Given the description of an element on the screen output the (x, y) to click on. 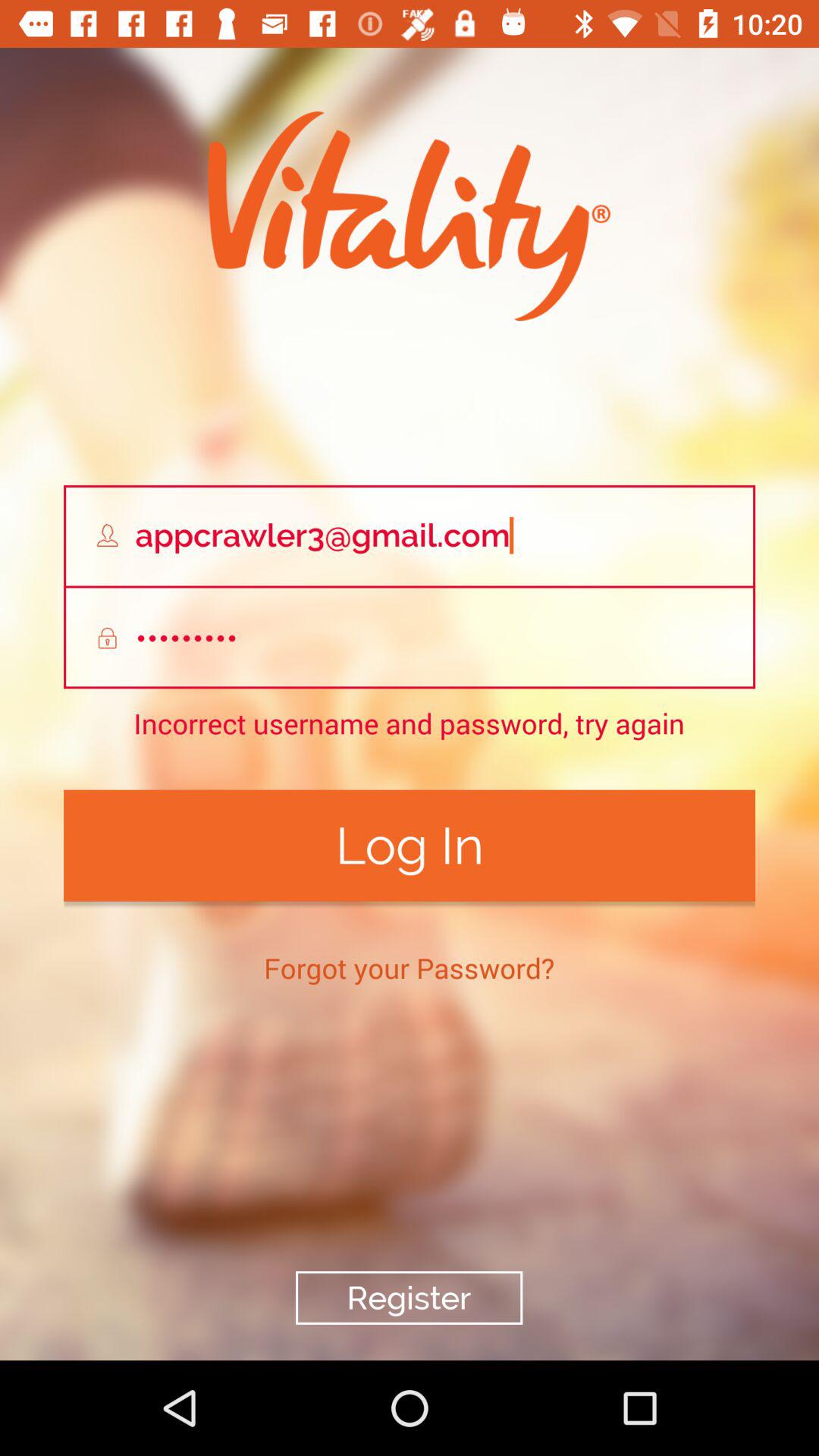
scroll to the log in (409, 845)
